Given the description of an element on the screen output the (x, y) to click on. 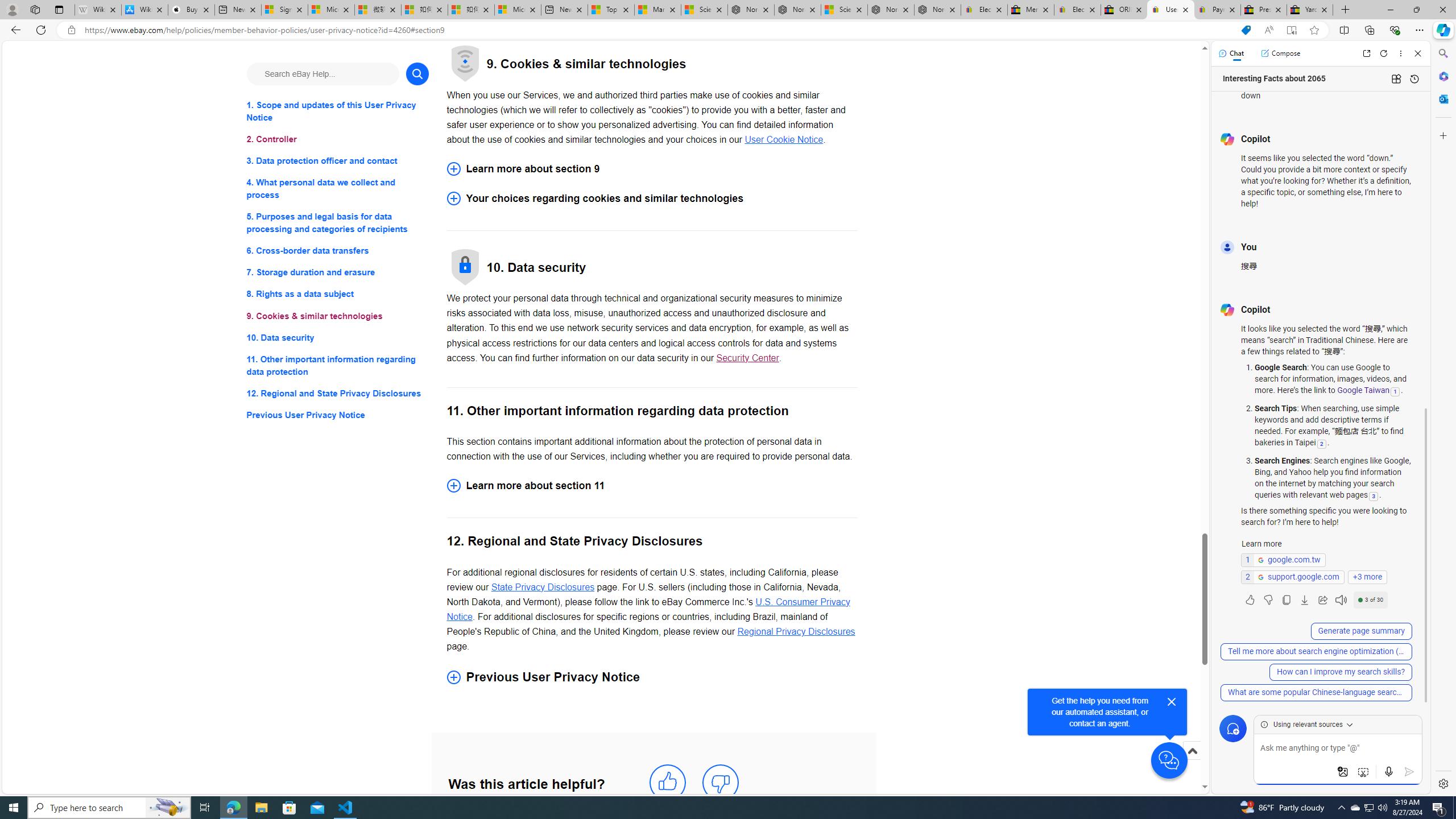
Regional Privacy Disclosures - opens in new window or tab (796, 631)
mark this article not helpful (720, 782)
12. Regional and State Privacy Disclosures (337, 392)
Scroll to top (1191, 750)
Compose (1280, 52)
3. Data protection officer and contact (337, 160)
Your choices regarding cookies and similar technologies (651, 198)
